Given the description of an element on the screen output the (x, y) to click on. 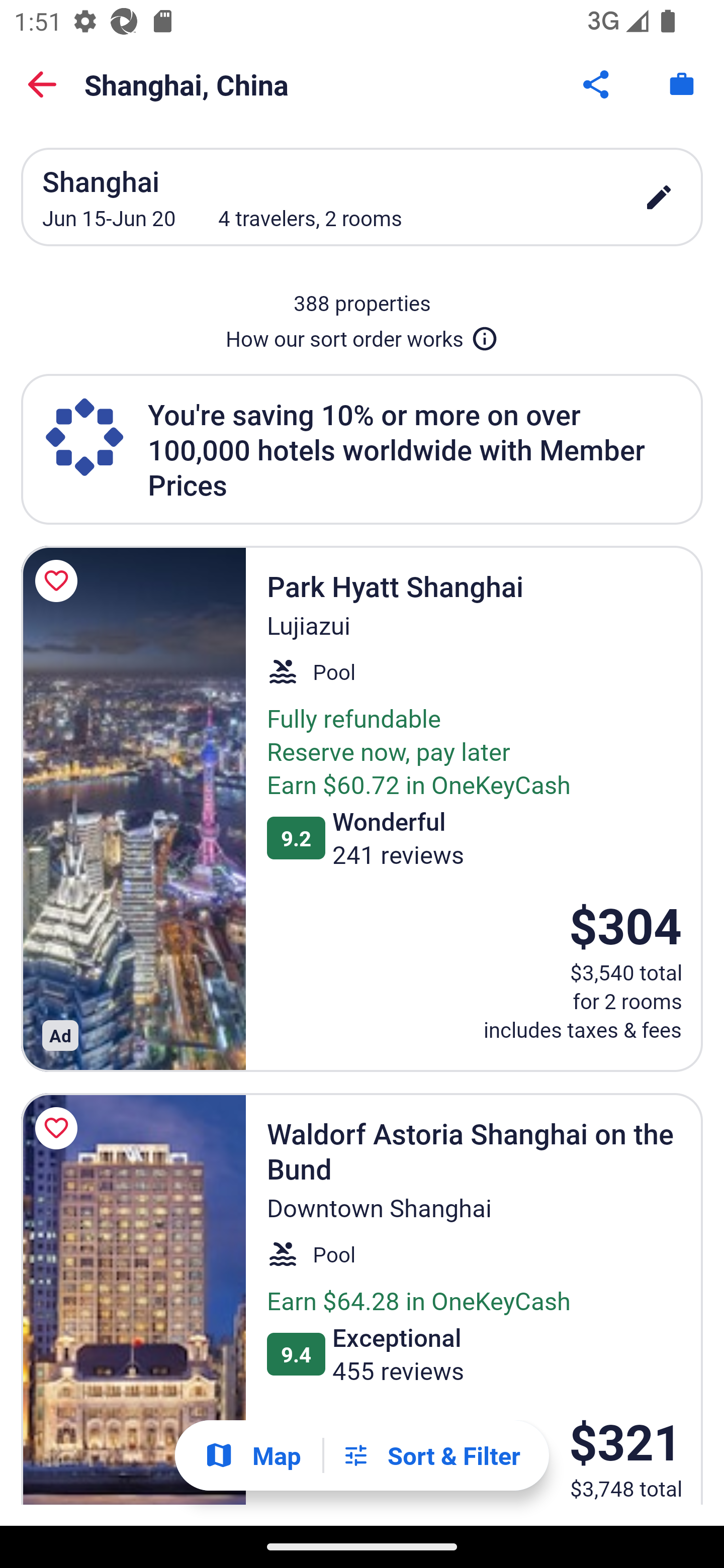
Back (42, 84)
Share Button (597, 84)
Trips. Button (681, 84)
Shanghai Jun 15-Jun 20 4 travelers, 2 rooms edit (361, 196)
How our sort order works (361, 334)
Save Park Hyatt Shanghai to a trip (59, 580)
Park Hyatt Shanghai (133, 808)
Waldorf Astoria Shanghai on the Bund (133, 1298)
Filters Sort & Filter Filters Button (430, 1455)
Show map Map Show map Button (252, 1455)
